Given the description of an element on the screen output the (x, y) to click on. 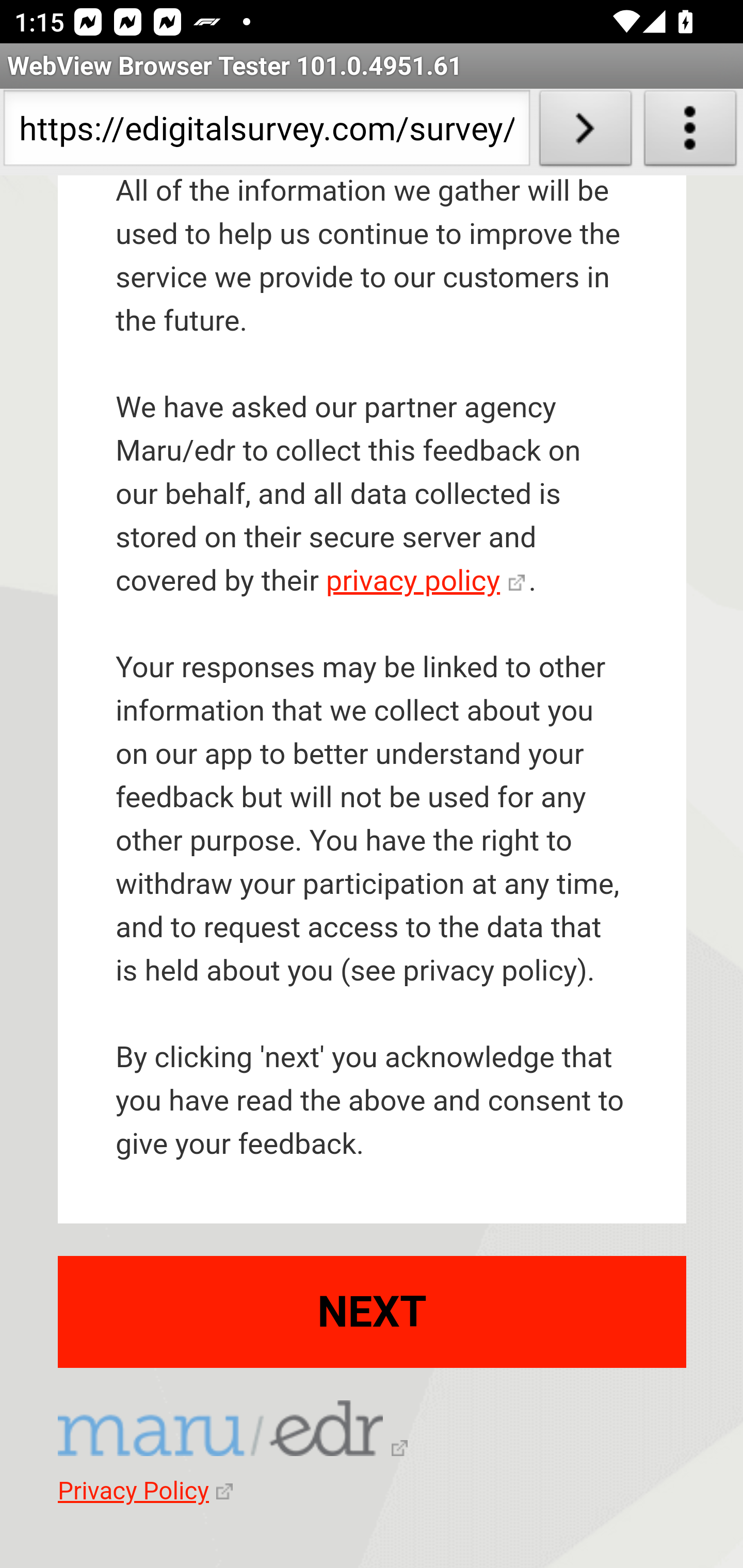
Load URL (585, 132)
About WebView (690, 132)
privacy policy  privacy policy    (425, 580)
NEXT (372, 1311)
Maru / edr  (233, 1431)
Privacy Policy  Privacy Policy    (144, 1491)
